Given the description of an element on the screen output the (x, y) to click on. 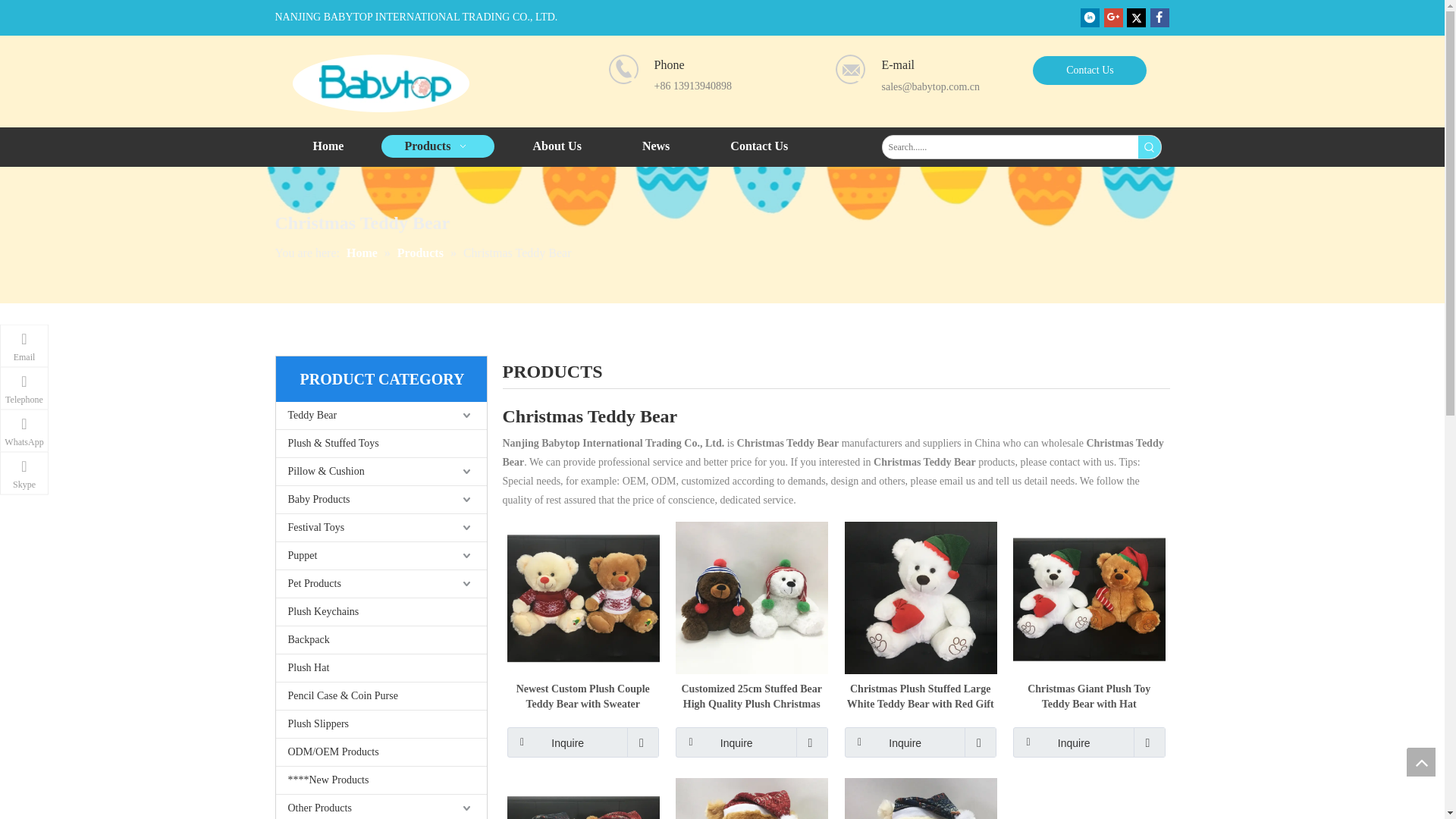
Contact Us (1089, 70)
E-mail  (850, 69)
Phone (623, 69)
Linkedin (1089, 17)
Baby Products (381, 499)
Teddy Bear  (381, 415)
Facebook (1159, 17)
1 (380, 83)
Products   (438, 146)
Twitter (1135, 17)
Home (327, 146)
